Given the description of an element on the screen output the (x, y) to click on. 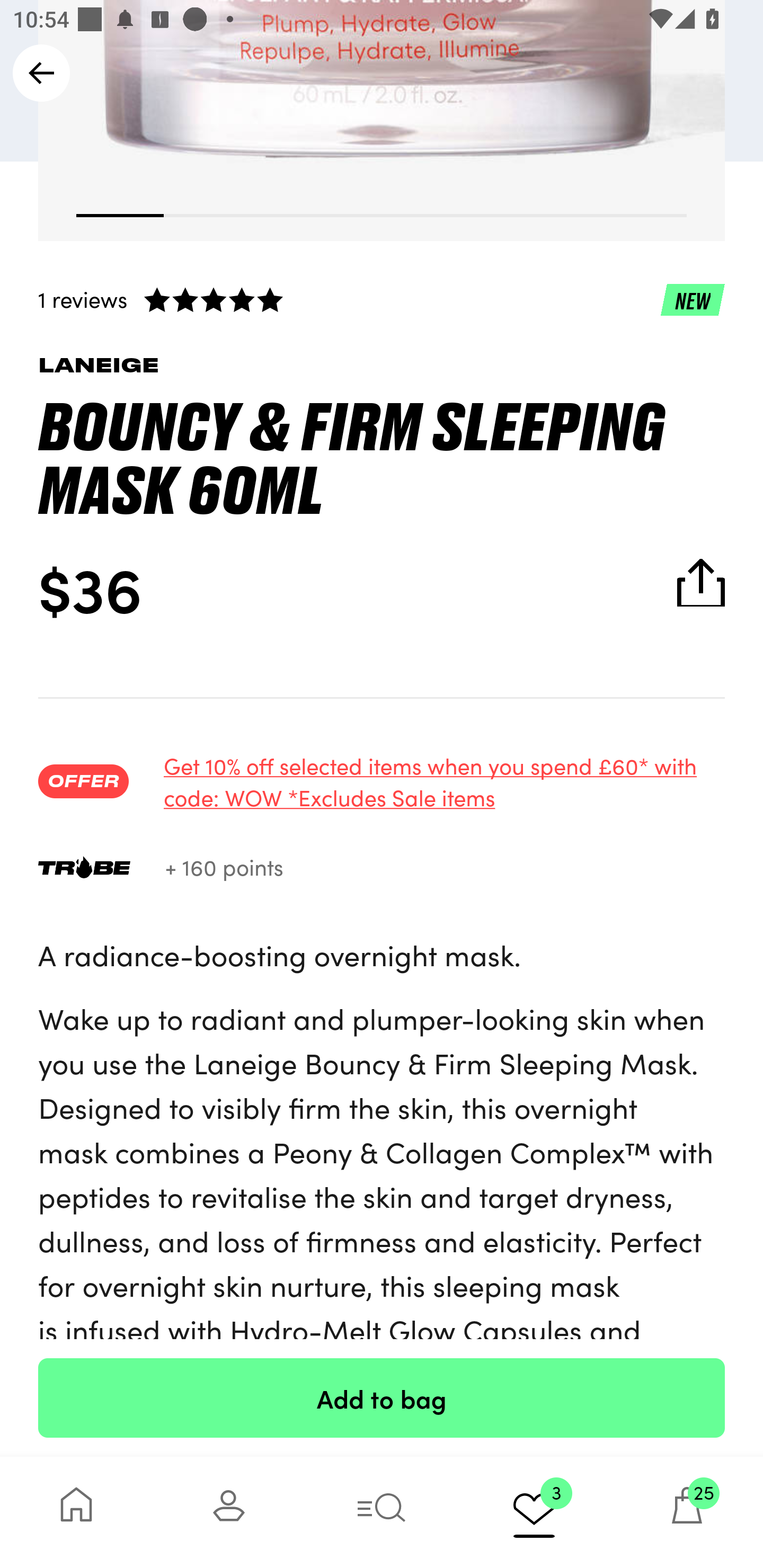
1 reviews (381, 298)
Add to bag (381, 1397)
3 (533, 1512)
25 (686, 1512)
